Given the description of an element on the screen output the (x, y) to click on. 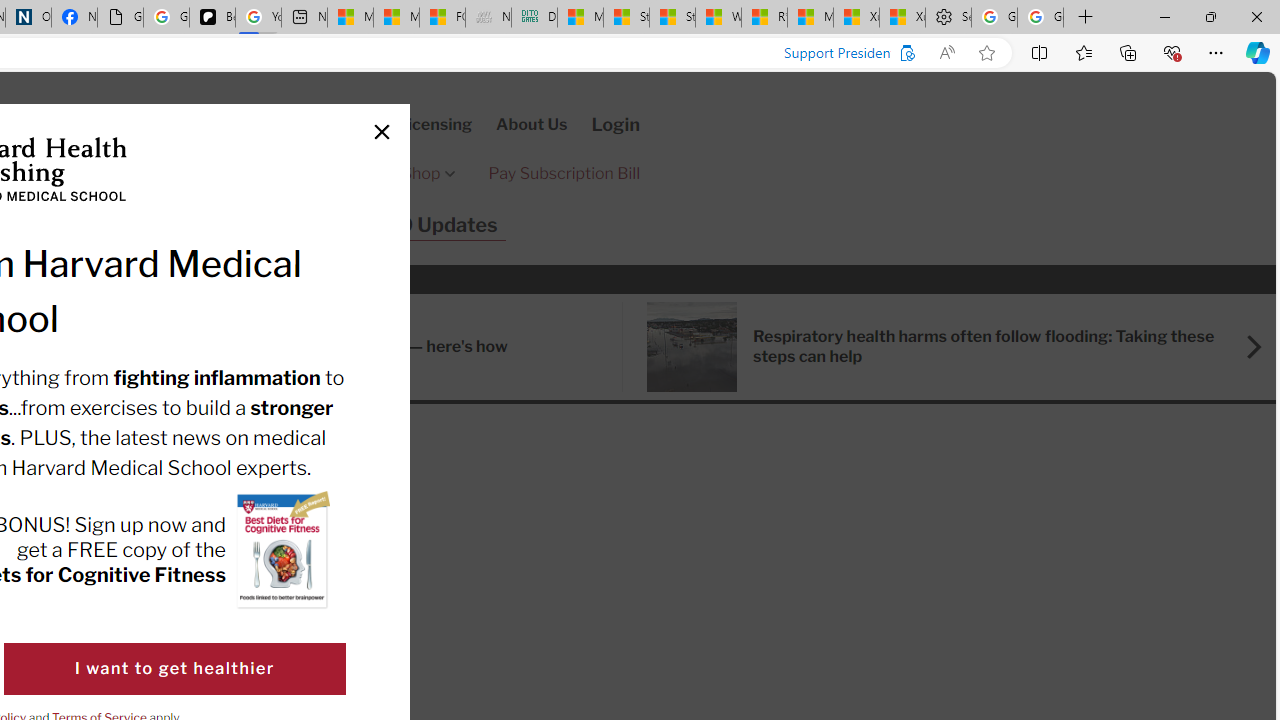
Class: flickity-button-icon (1251, 346)
Customer Service (238, 124)
Shop (428, 173)
Login (615, 124)
COVID-19 Updates (406, 225)
Content Licensing (402, 124)
